Given the description of an element on the screen output the (x, y) to click on. 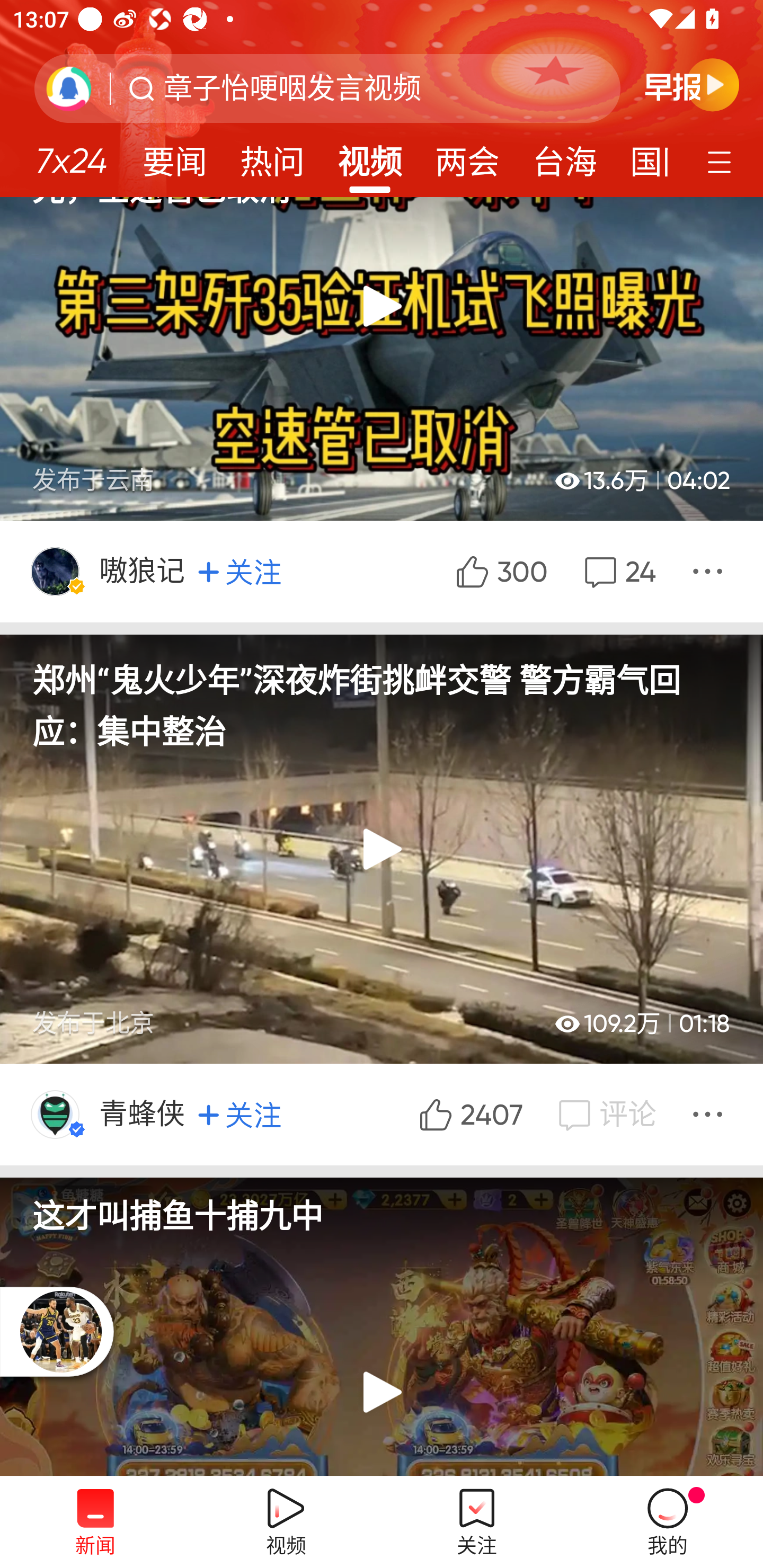
早晚报 (691, 84)
刷新 (68, 88)
章子怡哽咽发言视频 (292, 88)
7x24 (70, 154)
要闻 (174, 155)
热问 (272, 155)
视频 (369, 155)
两会 (466, 155)
台海 (564, 155)
 定制频道 (721, 160)
300赞 (499, 571)
评论  24 (617, 571)
分享  (709, 571)
嗷狼记 (143, 571)
关注 (239, 572)
郑州“鬼火少年”深夜炸街挑衅交警 警方霸气回应：集中整治 (381, 693)
2407赞 (468, 1114)
评论  评论 (604, 1114)
分享  (709, 1114)
青蜂侠 (143, 1113)
关注 (239, 1114)
播放,这才叫捕鱼十捕九中 (381, 1327)
这才叫捕鱼十捕九中 (381, 1206)
播放器 (60, 1331)
